Given the description of an element on the screen output the (x, y) to click on. 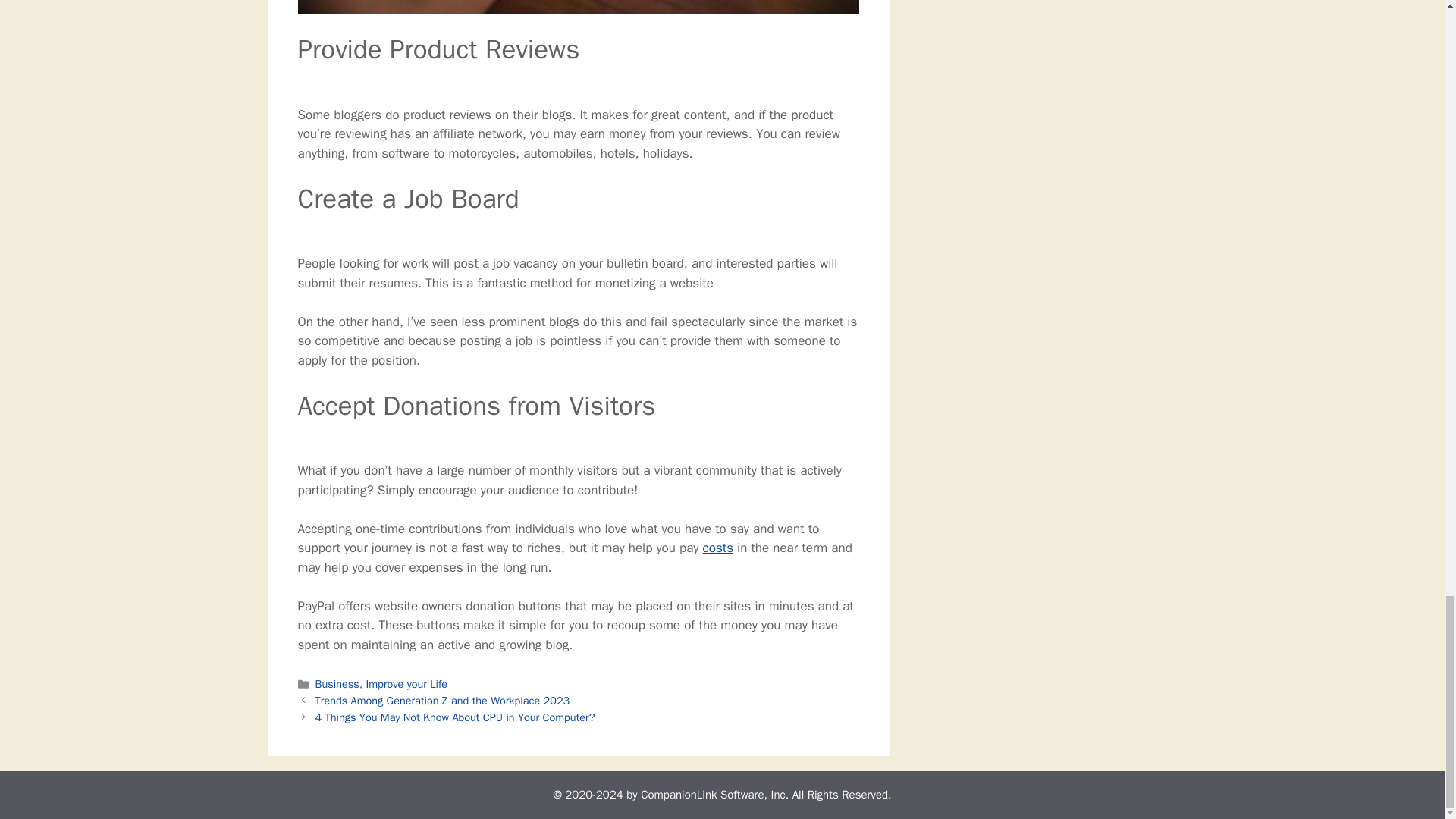
Previous (442, 700)
Business (337, 684)
Next (455, 716)
Improve your Life (407, 684)
4 Things You May Not Know About CPU in Your Computer? (455, 716)
Trends Among Generation Z and the Workplace 2023 (442, 700)
costs (718, 547)
